Given the description of an element on the screen output the (x, y) to click on. 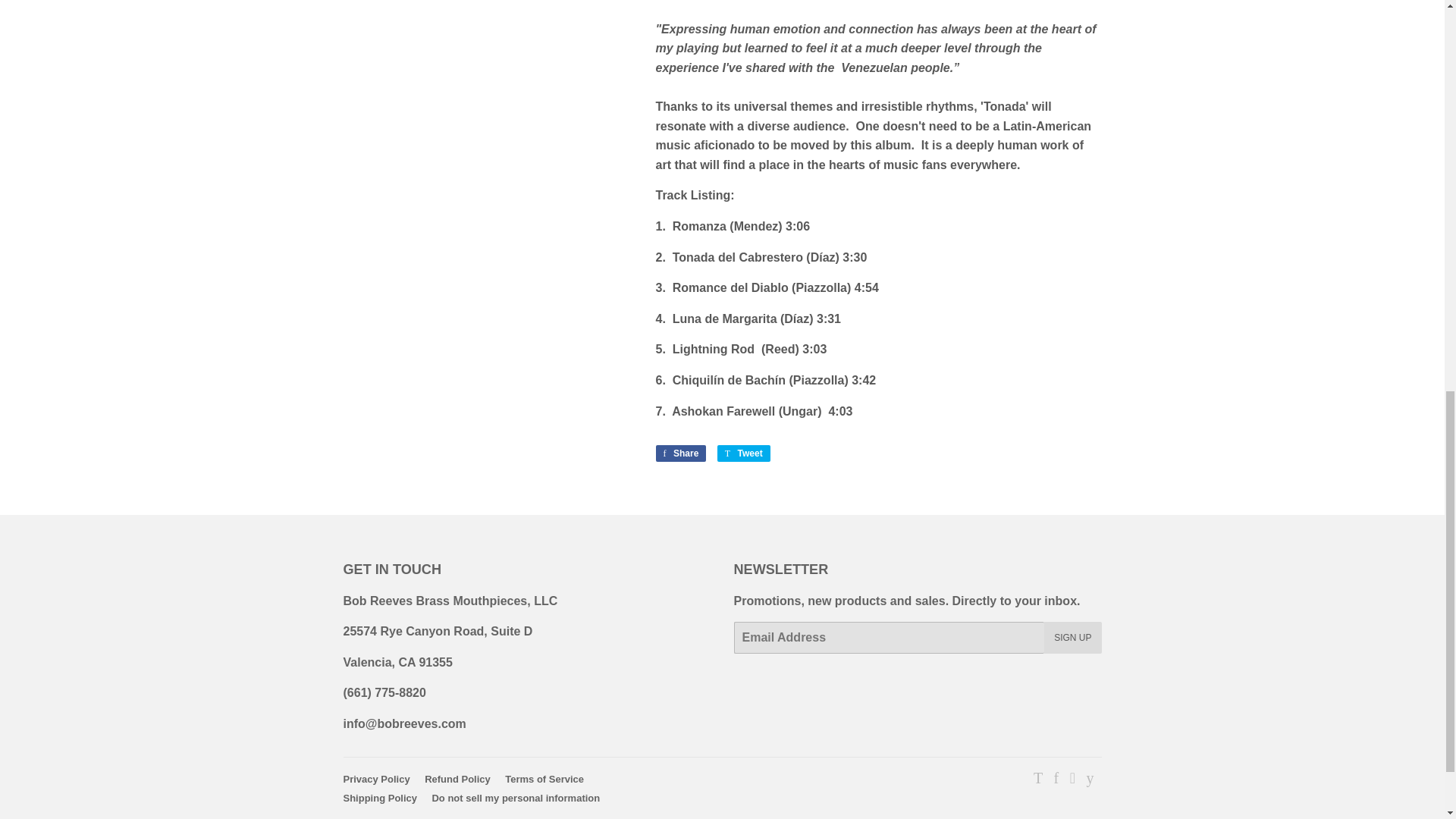
Share on Facebook (680, 453)
Tweet on Twitter (743, 453)
